Given the description of an element on the screen output the (x, y) to click on. 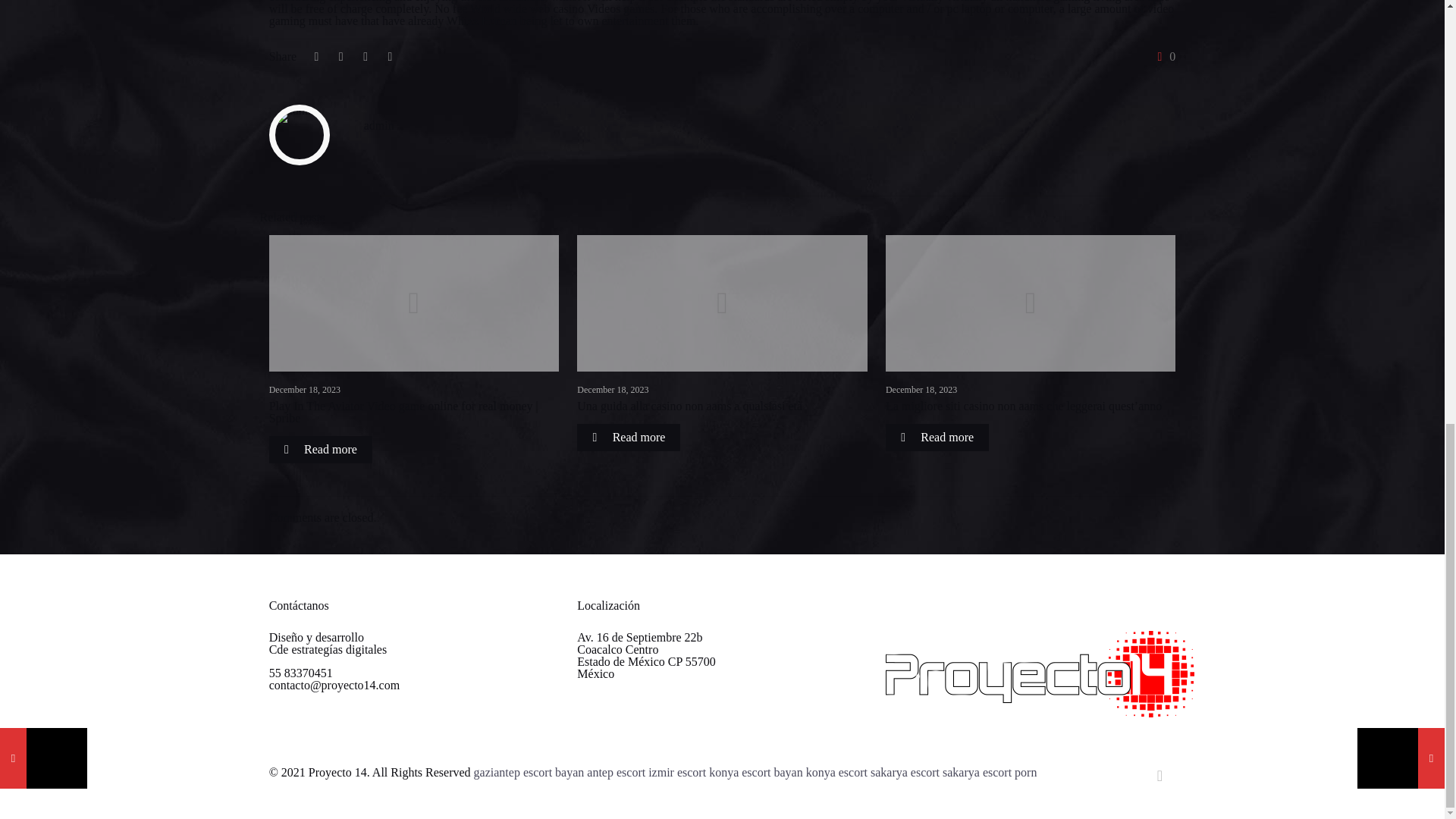
sakarya escort (904, 771)
konya escor bayan (756, 771)
Read more (320, 449)
konya escort (836, 771)
konya escort bayan (756, 771)
sakarya escort (976, 771)
antep escort (615, 771)
izmir escort (676, 771)
sakarya escort (976, 771)
porn (1025, 771)
